Given the description of an element on the screen output the (x, y) to click on. 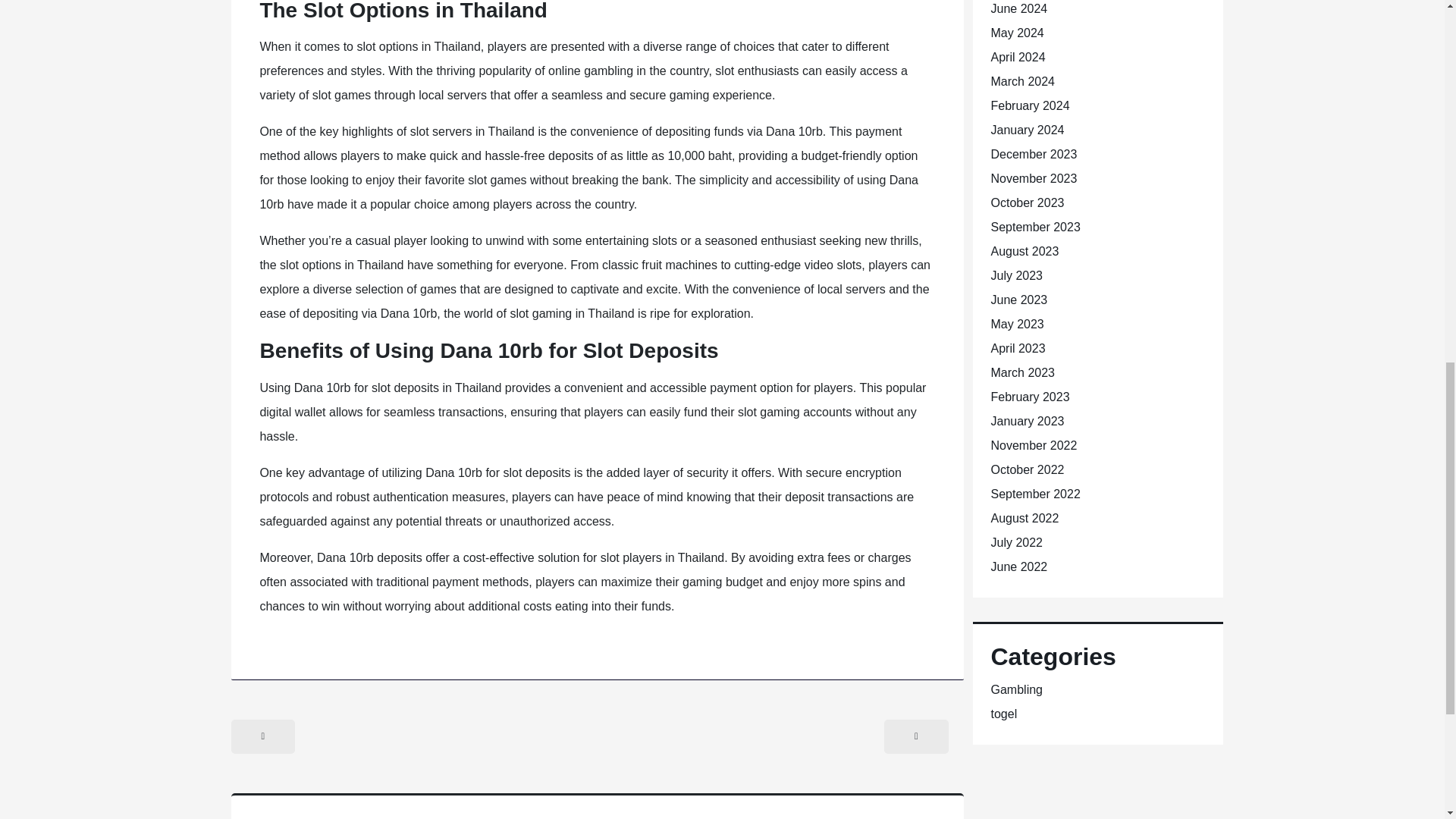
February 2024 (1029, 105)
September 2022 (1035, 493)
December 2023 (1033, 154)
October 2022 (1027, 469)
January 2024 (1027, 129)
March 2024 (1022, 81)
June 2024 (1018, 8)
July 2023 (1016, 275)
April 2023 (1017, 348)
September 2023 (1035, 226)
May 2024 (1016, 32)
May 2023 (1016, 323)
October 2023 (1027, 202)
November 2023 (1033, 178)
June 2023 (1018, 299)
